Given the description of an element on the screen output the (x, y) to click on. 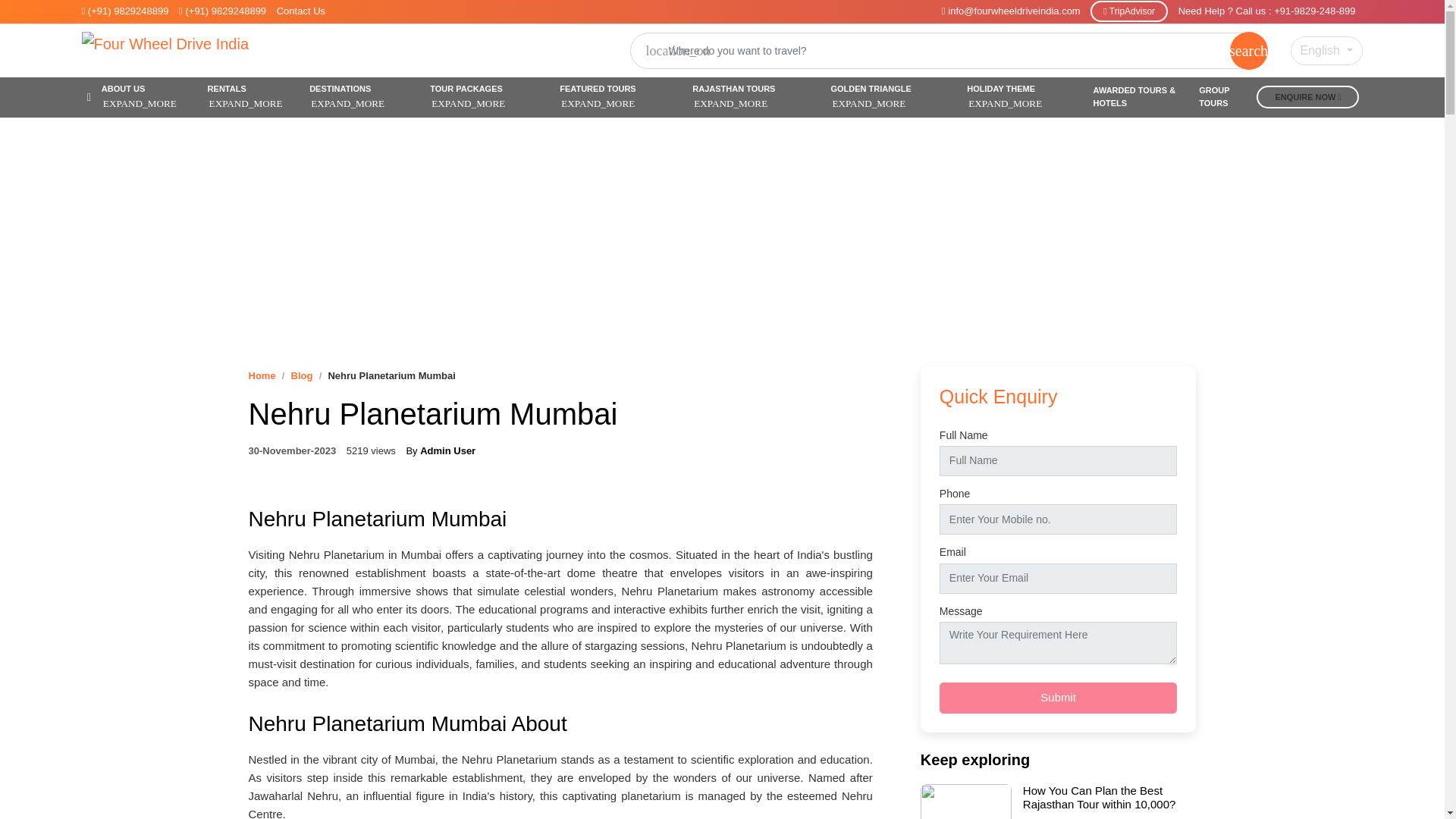
search (1249, 50)
TripAdvisor (1128, 11)
RENTALS (253, 96)
ABOUT US (149, 96)
English (1326, 50)
Contact Us (300, 10)
